Given the description of an element on the screen output the (x, y) to click on. 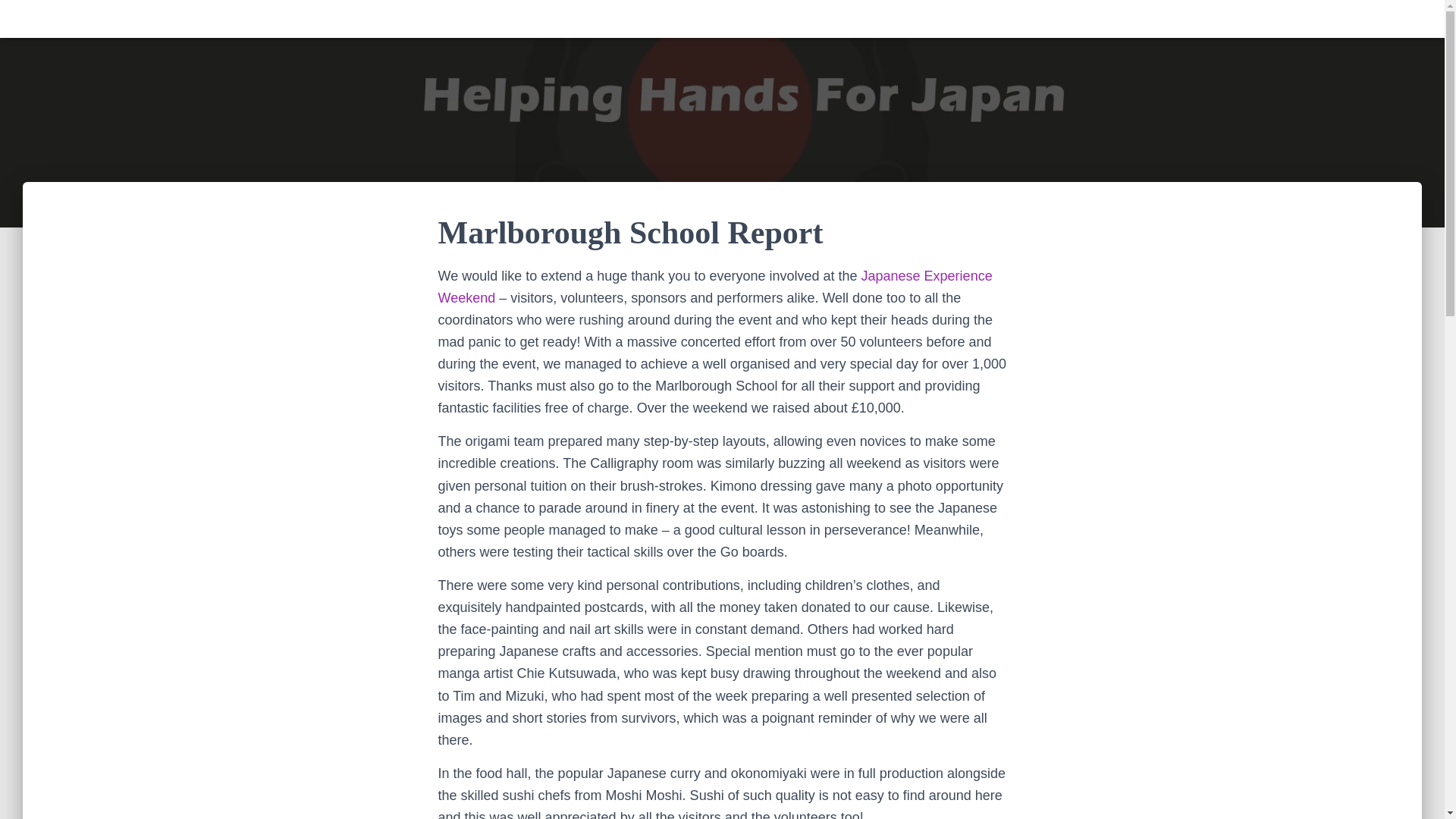
Japanese Experience Weekend (715, 286)
